Given the description of an element on the screen output the (x, y) to click on. 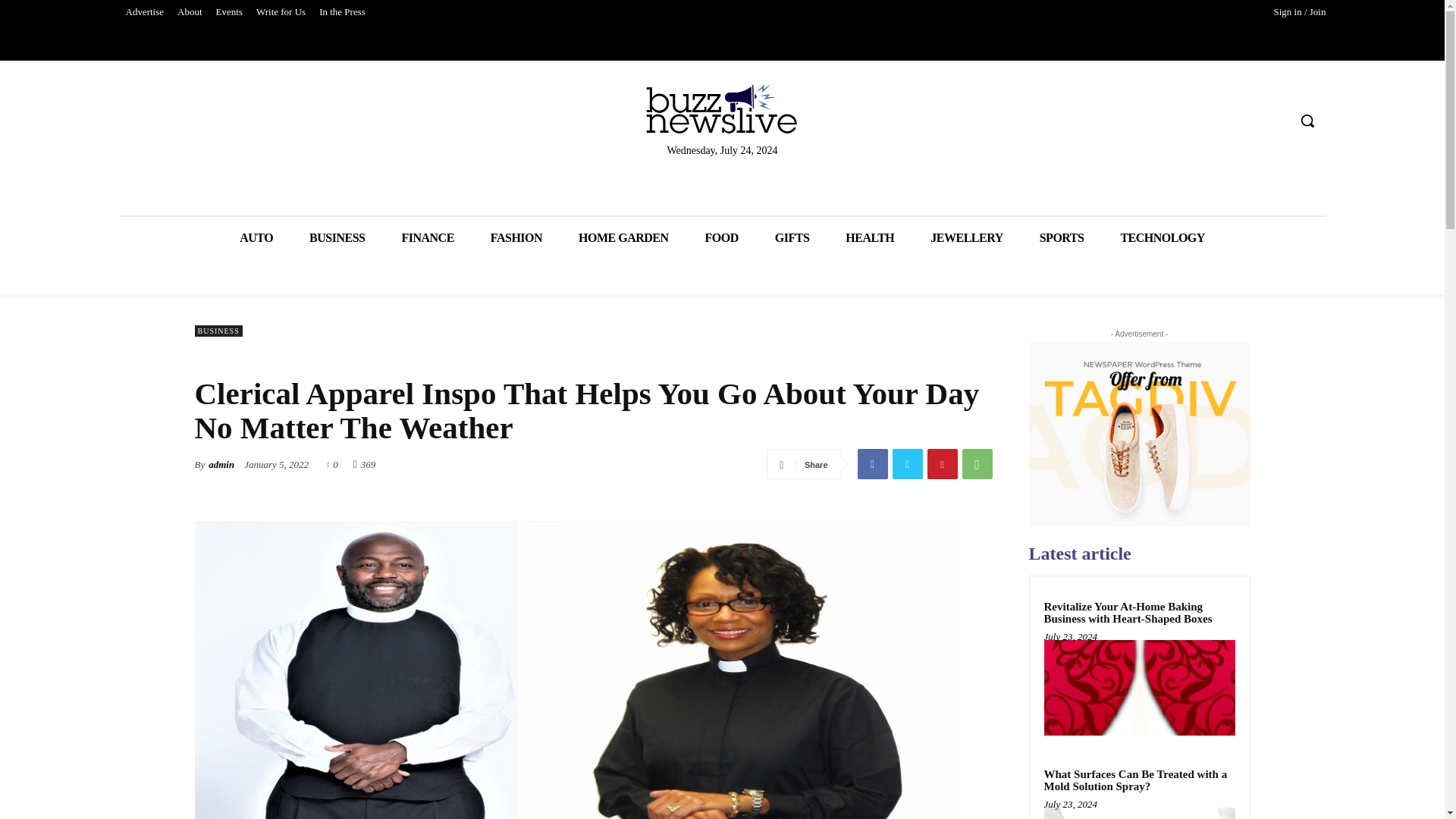
FINANCE (426, 237)
BUSINESS (336, 237)
SPORTS (1062, 237)
Write for Us (280, 12)
Twitter (906, 463)
Facebook (871, 463)
HEALTH (869, 237)
About (189, 12)
Events (228, 12)
FASHION (515, 237)
TECHNOLOGY (1162, 237)
JEWELLERY (966, 237)
In the Press (342, 12)
WhatsApp (975, 463)
